Given the description of an element on the screen output the (x, y) to click on. 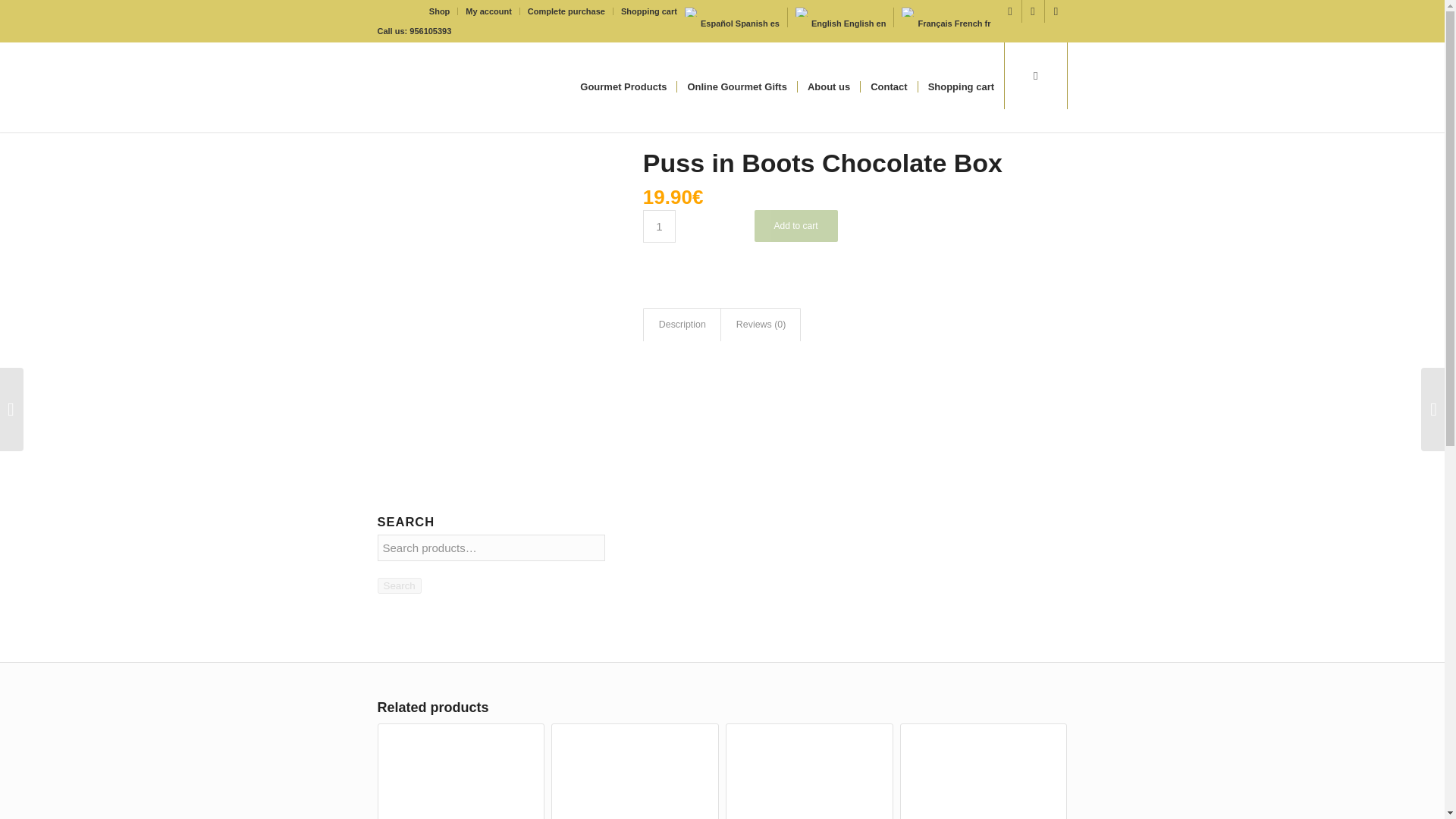
Online Gourmet Gifts (736, 86)
Shop (439, 11)
X (1032, 11)
Complete purchase (566, 11)
LinkedIn (1056, 11)
Call us: 956105393 (414, 31)
Gourmet Products (623, 86)
My account (488, 11)
Shopping cart (649, 11)
English English en (840, 23)
